Given the description of an element on the screen output the (x, y) to click on. 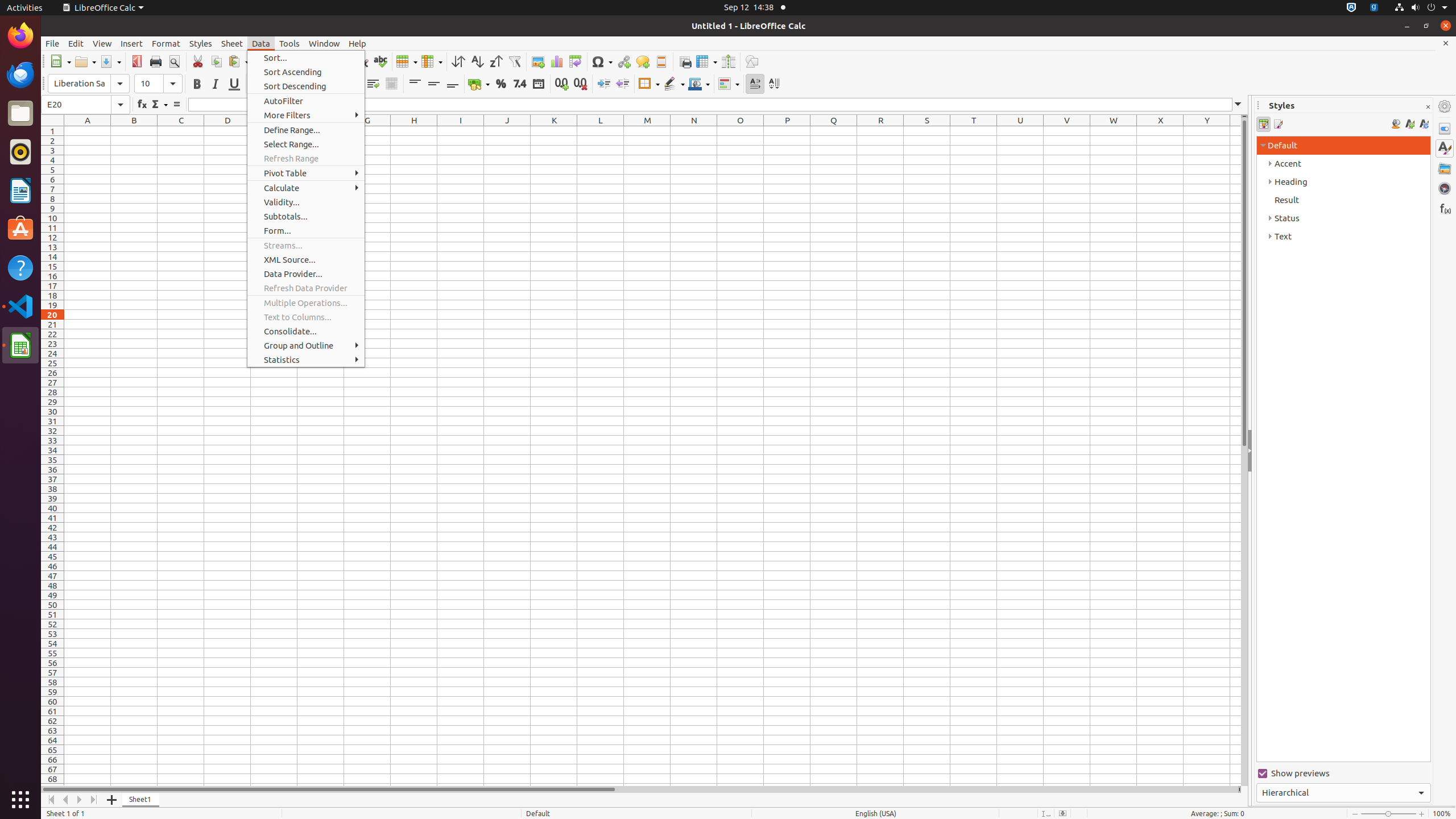
C1 Element type: table-cell (180, 130)
Symbol Element type: push-button (601, 61)
Text direction from left to right Element type: toggle-button (754, 83)
Text direction from top to bottom Element type: toggle-button (773, 83)
Move Left Element type: push-button (65, 799)
